Given the description of an element on the screen output the (x, y) to click on. 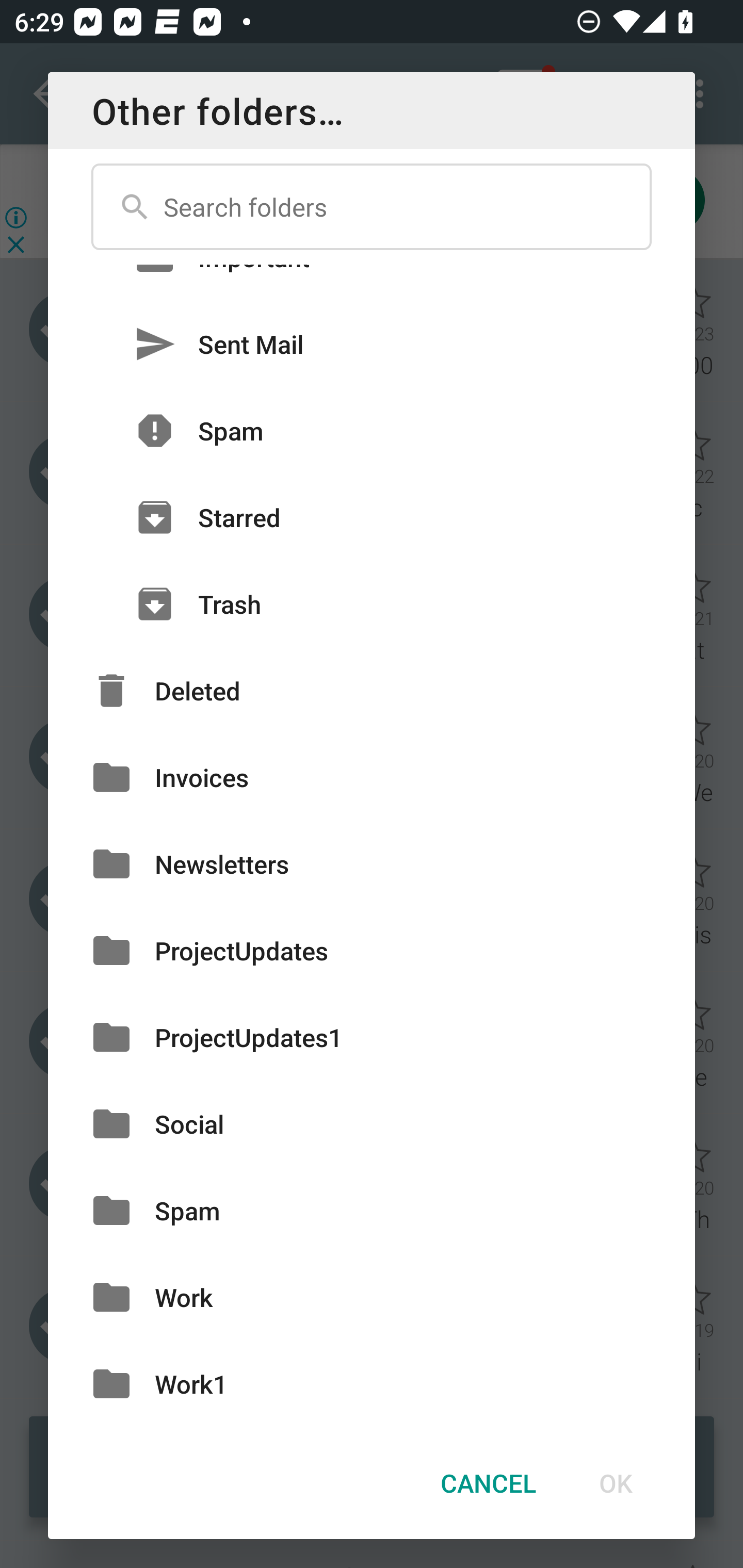
Sent Mail (371, 344)
Spam (371, 430)
Starred (371, 517)
Trash (371, 604)
Deleted (371, 690)
Invoices (371, 776)
Newsletters (371, 863)
ProjectUpdates (371, 950)
ProjectUpdates1 (371, 1037)
Social (371, 1123)
Spam (371, 1210)
Work (371, 1297)
Work1 (371, 1383)
CANCEL (488, 1482)
OK (615, 1482)
